Given the description of an element on the screen output the (x, y) to click on. 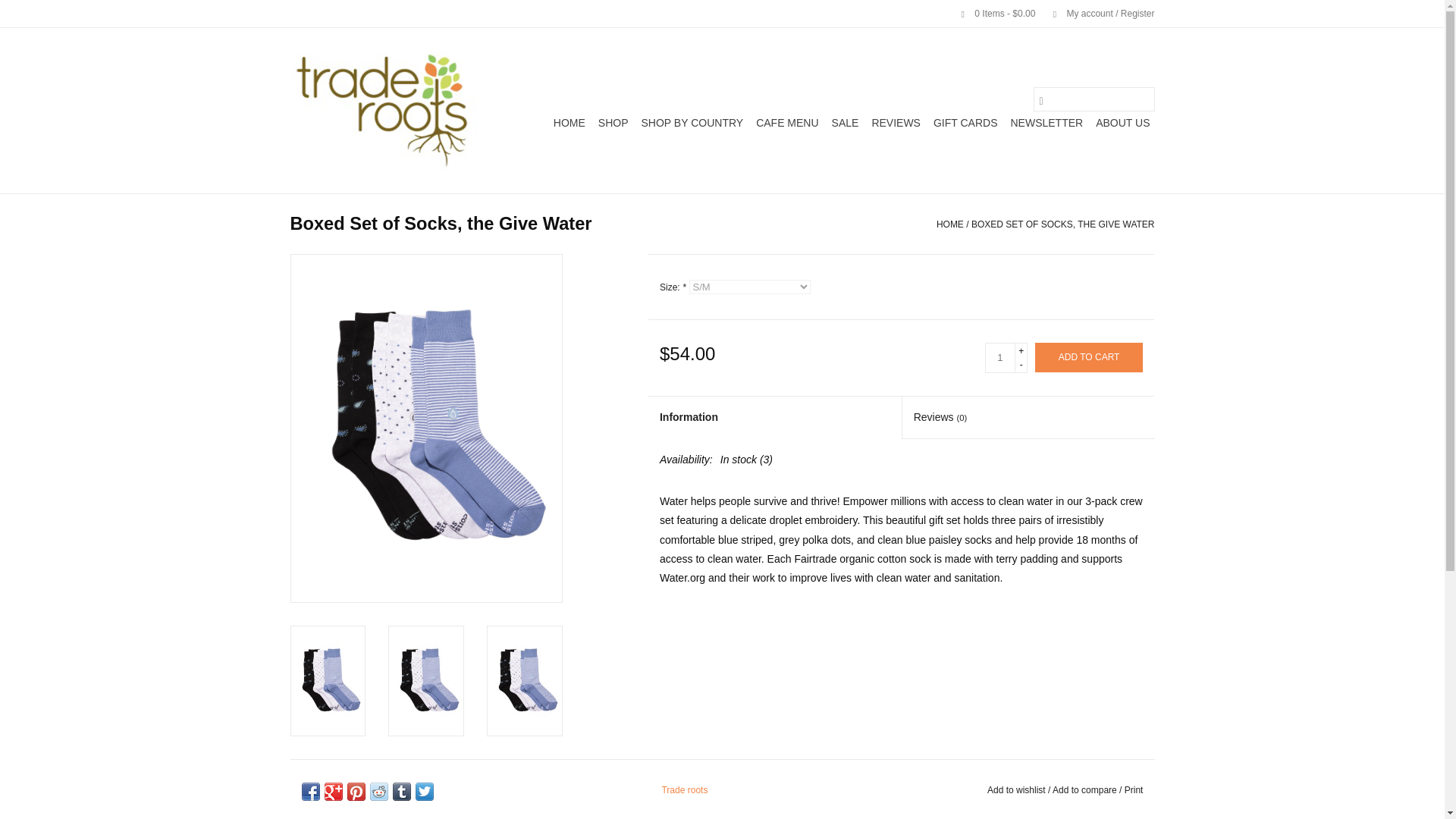
HOME (568, 122)
My account (1096, 13)
Trade Roots fair trade store and coffee shop (382, 110)
1 (999, 358)
Cart (992, 13)
SHOP (613, 122)
Shop (613, 122)
